Given the description of an element on the screen output the (x, y) to click on. 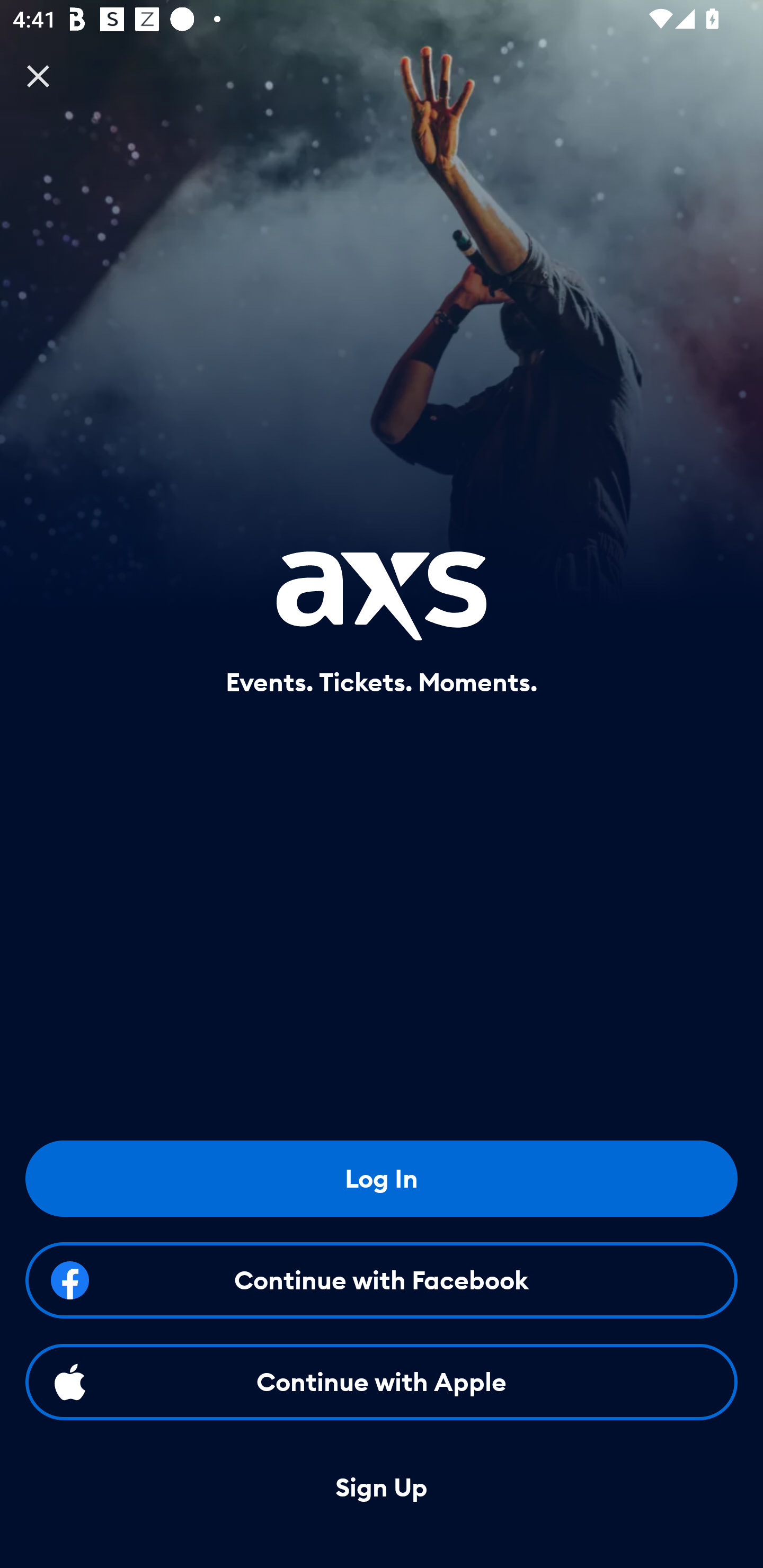
Log In (381, 1177)
Continue with Facebook (381, 1279)
Continue with Apple (381, 1381)
Sign Up (381, 1487)
